Given the description of an element on the screen output the (x, y) to click on. 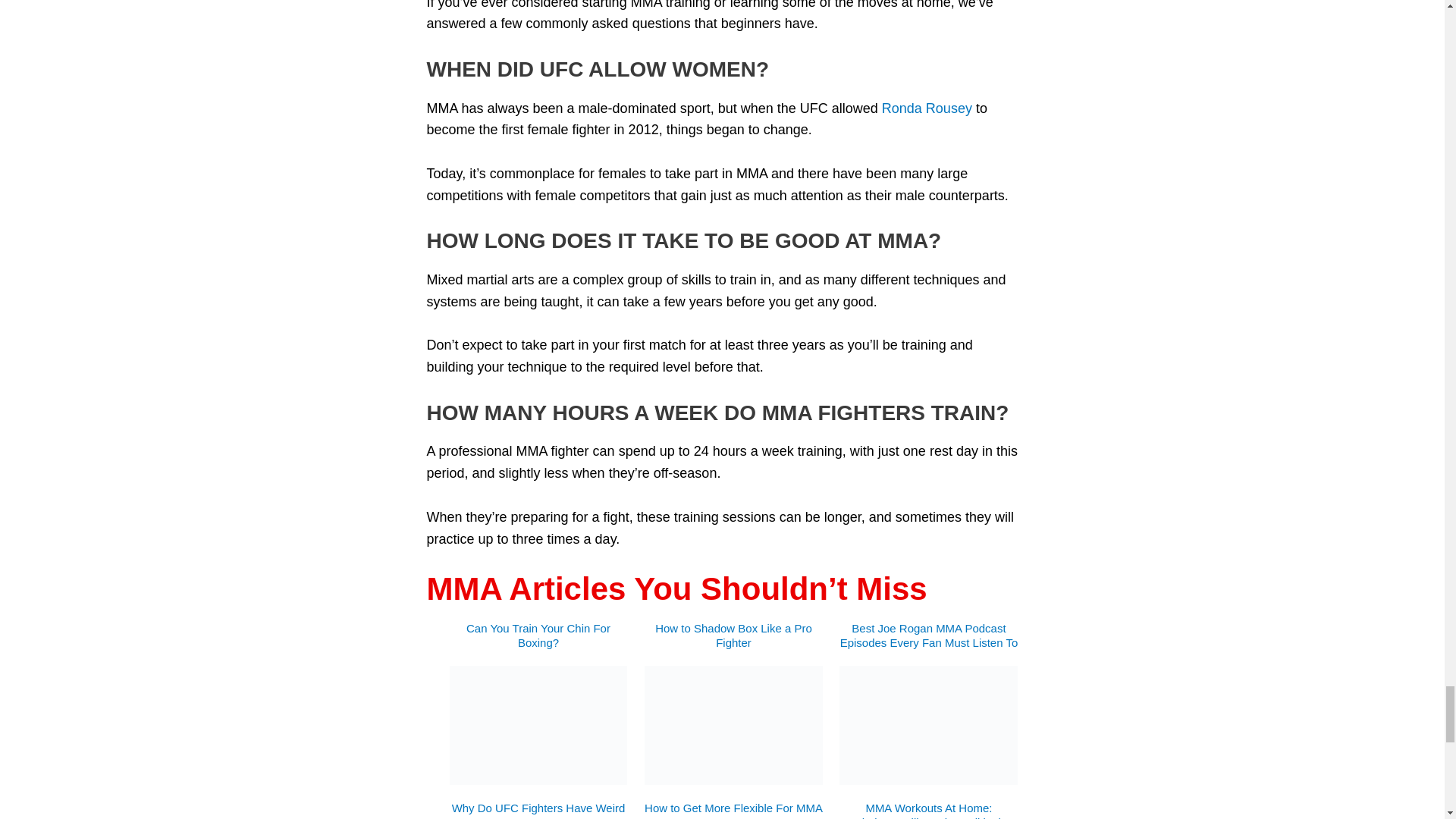
Can You Train Your Chin For Boxing? 3 (537, 724)
How to Shadow Box Like a Pro Fighter 4 (733, 724)
